Given the description of an element on the screen output the (x, y) to click on. 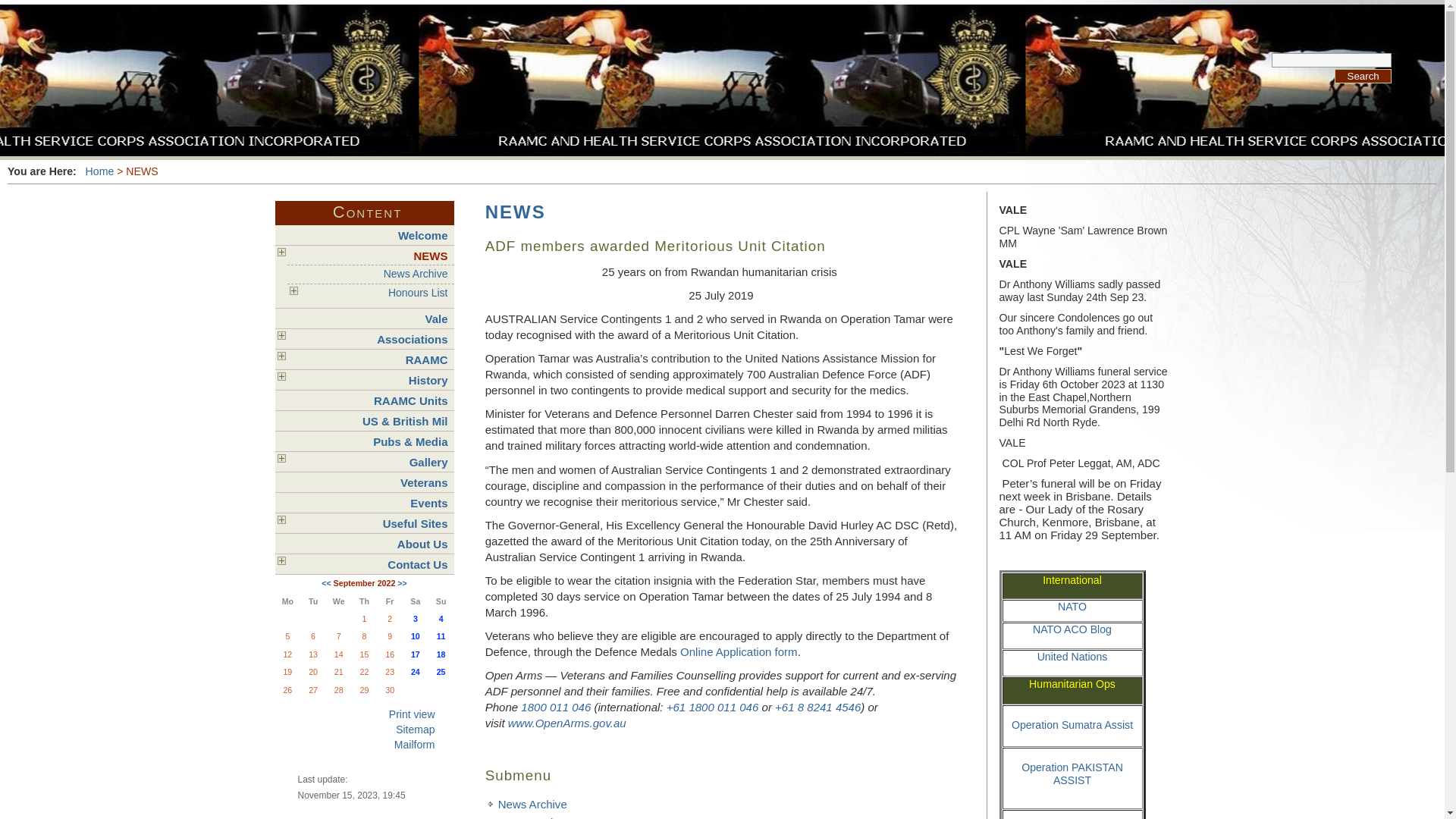
Veterans Element type: text (366, 482)
Search Element type: text (1362, 76)
Print view Element type: text (358, 714)
1800 011 046 Element type: text (555, 706)
NATO Element type: text (1071, 606)
NEWS Element type: text (515, 211)
Associations Element type: text (366, 339)
>> Element type: text (401, 582)
Gallery Element type: text (366, 461)
Events Element type: text (366, 502)
<< Element type: text (325, 582)
Vale Element type: text (366, 318)
Sitemap Element type: text (358, 729)
News Archive Element type: text (372, 273)
News Archive Element type: text (532, 803)
About Us Element type: text (366, 543)
NATO ACO Blog Element type: text (1071, 629)
Mailform Element type: text (358, 744)
Pubs & Media Element type: text (366, 441)
Useful Sites Element type: text (366, 523)
Contact Us Element type: text (366, 564)
RAAMC Units Element type: text (366, 400)
Honours List Element type: text (372, 292)
Operation Sumatra Assist Element type: text (1071, 724)
+61 1800 011 046 Element type: text (712, 706)
History Element type: text (366, 379)
RAAMC Element type: text (366, 359)
US & British Mil Element type: text (366, 420)
United Nations Element type: text (1072, 656)
www.OpenArms.gov.au Element type: text (567, 722)
Welcome Element type: text (366, 235)
Online Application form Element type: text (738, 651)
Operation PAKISTAN ASSIST Element type: text (1072, 780)
+61 8 8241 4546 Element type: text (817, 706)
Home Element type: text (99, 171)
